Given the description of an element on the screen output the (x, y) to click on. 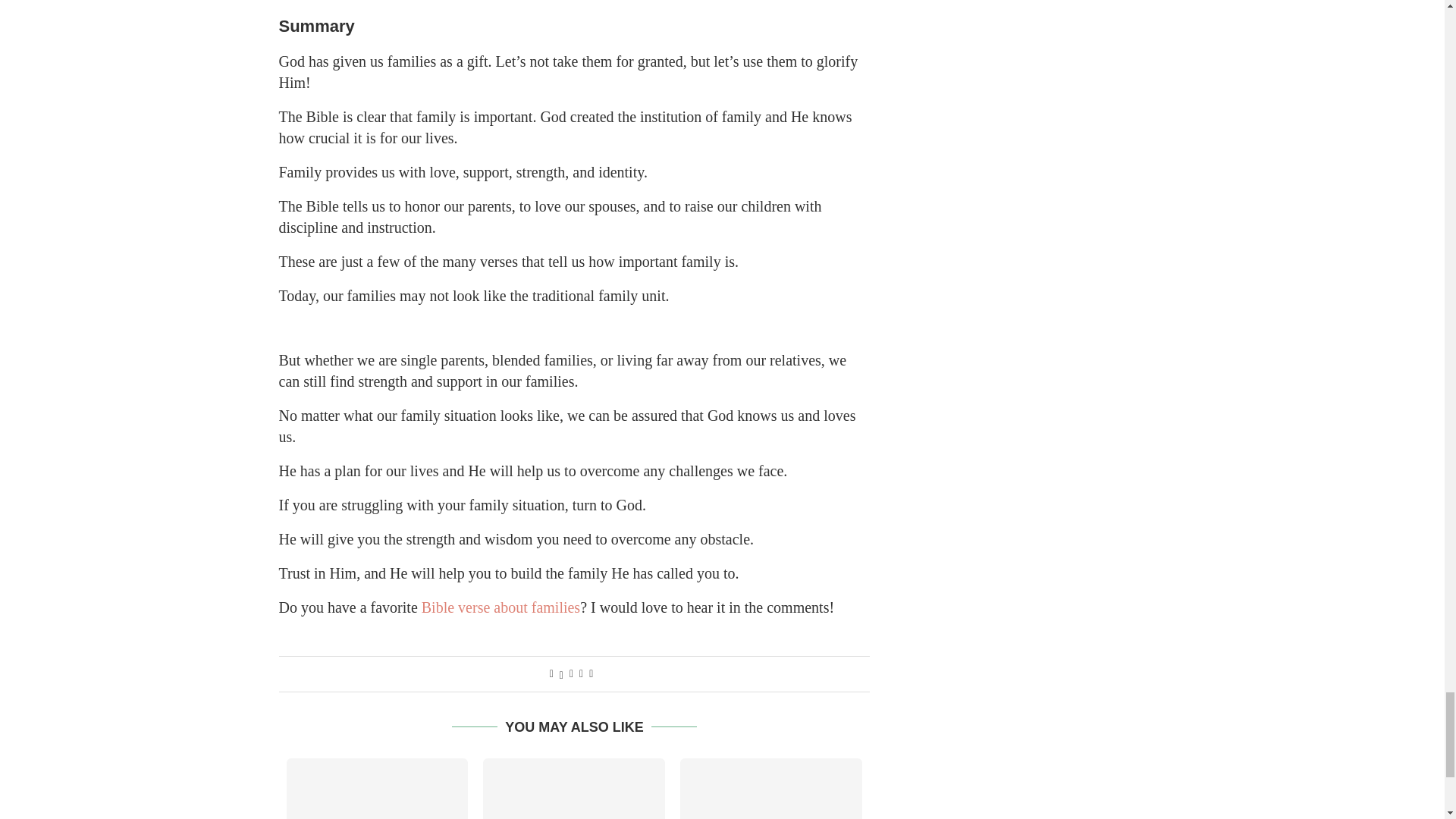
Bible verse about families (500, 606)
Everything You Need To Know About Fornication in The Bible (377, 788)
Bible Verses About Fear (770, 788)
Bible Verses About Compassion (574, 788)
